Given the description of an element on the screen output the (x, y) to click on. 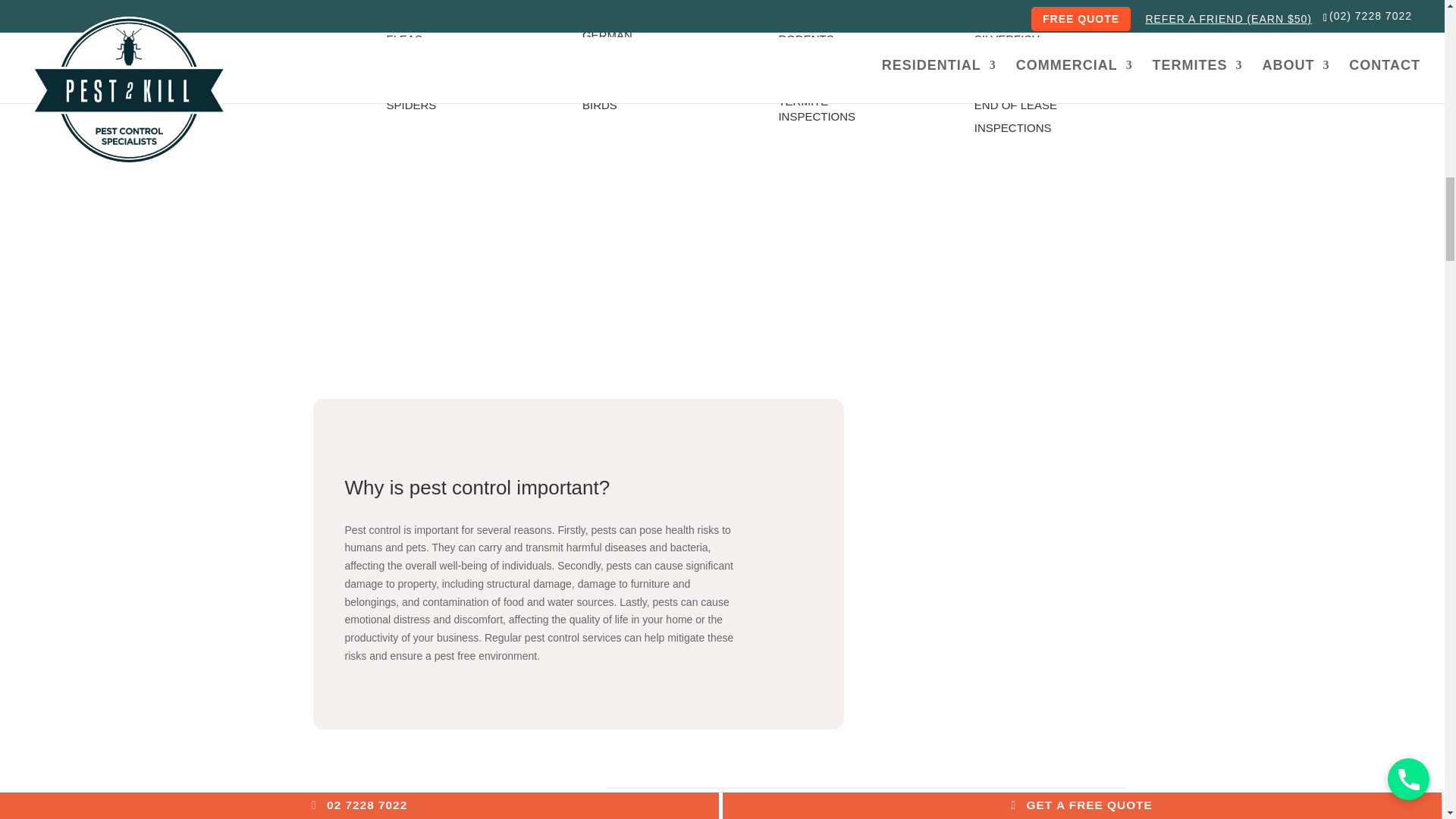
8 (967, 563)
